Given the description of an element on the screen output the (x, y) to click on. 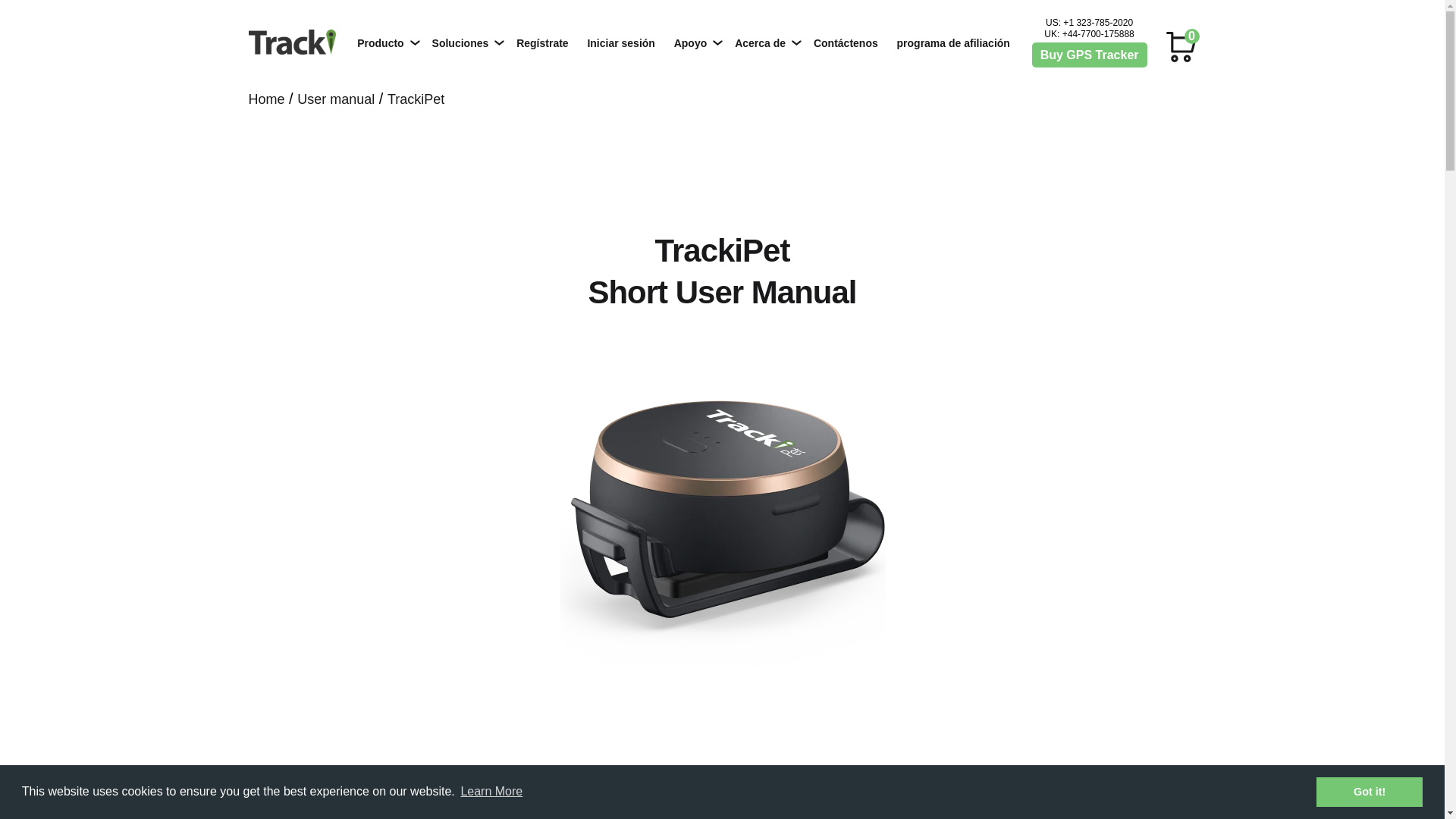
Learn More (491, 791)
0 (1181, 42)
Home (266, 99)
Got it! (1369, 791)
Soluciones (462, 42)
Producto (381, 42)
Buy GPS Tracker (1089, 54)
User manual (335, 99)
Apoyo (692, 42)
TrackiPet (415, 99)
Acerca de (762, 42)
